Given the description of an element on the screen output the (x, y) to click on. 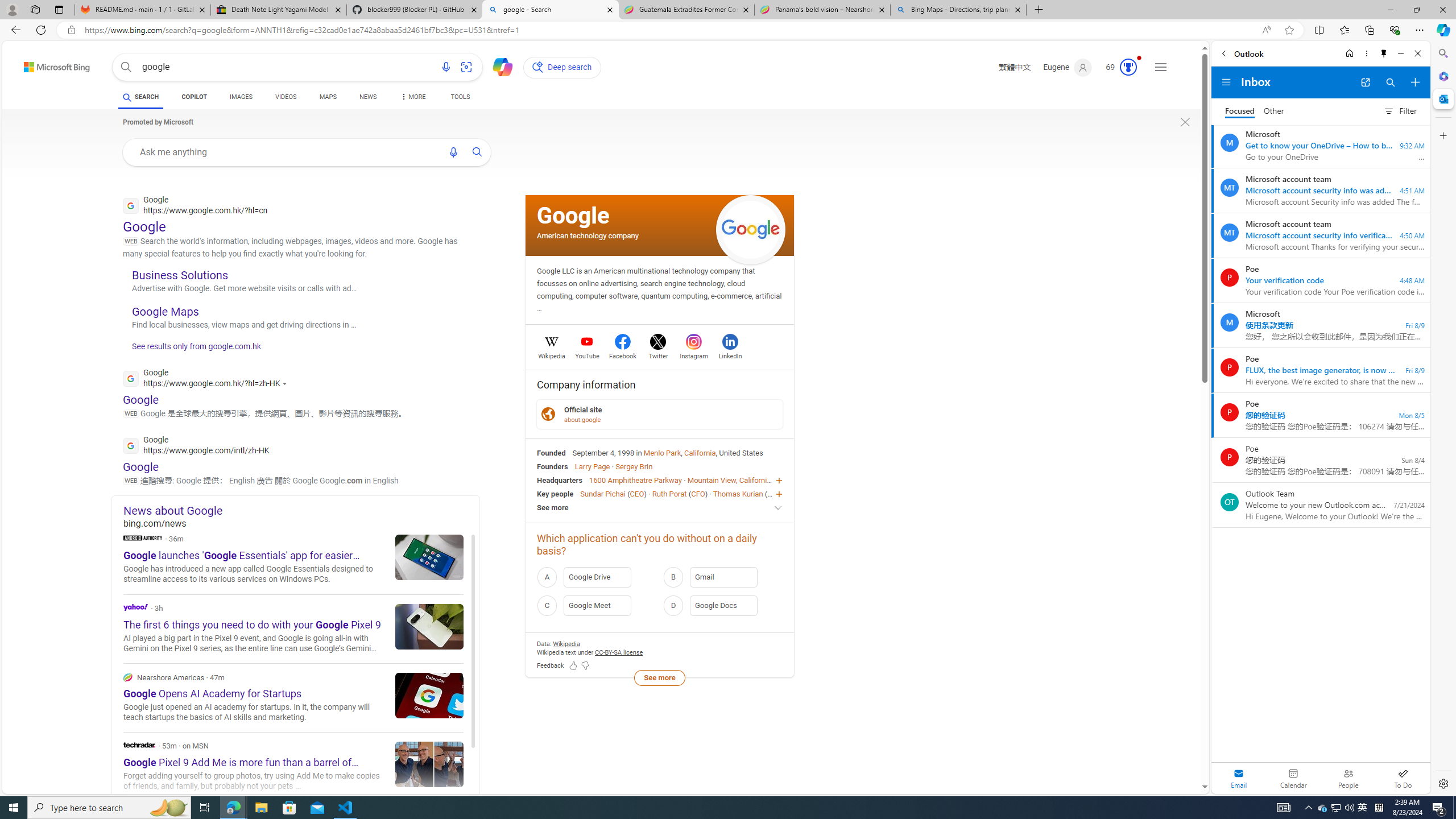
Animation (1139, 57)
Class: sp-ofsite (547, 414)
Restore (1416, 9)
Settings and quick links (1160, 67)
Menlo Park (662, 452)
Yahoo (135, 606)
SEARCH (140, 96)
YouTube (587, 354)
Customize (1442, 135)
